Given the description of an element on the screen output the (x, y) to click on. 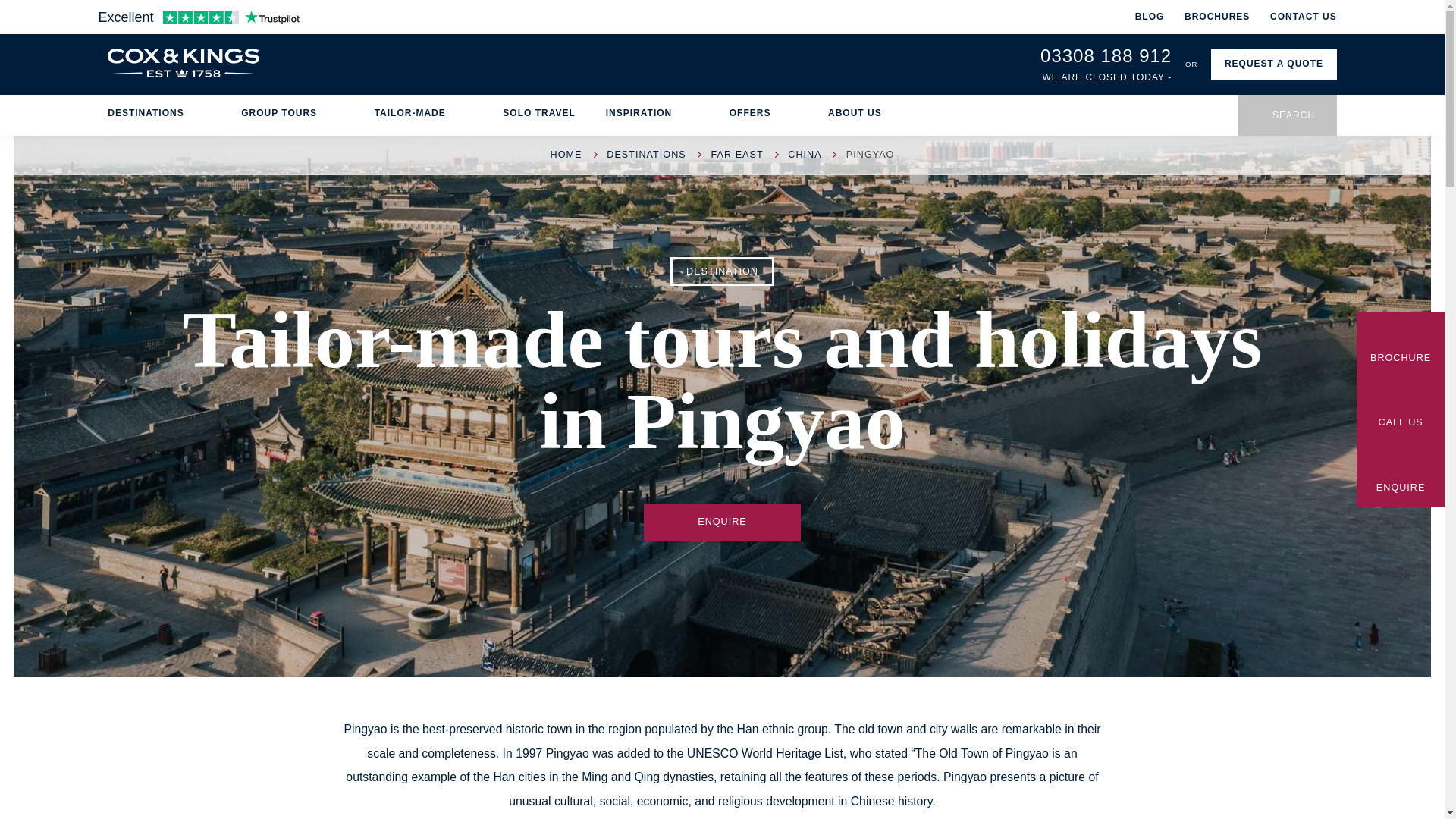
CONTACT US (1302, 17)
03308 188 912 (1106, 55)
BLOG (1149, 17)
REQUEST A QUOTE (1273, 64)
Customer reviews powered by Trustpilot (198, 16)
BROCHURES (1217, 17)
DESTINATIONS (159, 114)
